Given the description of an element on the screen output the (x, y) to click on. 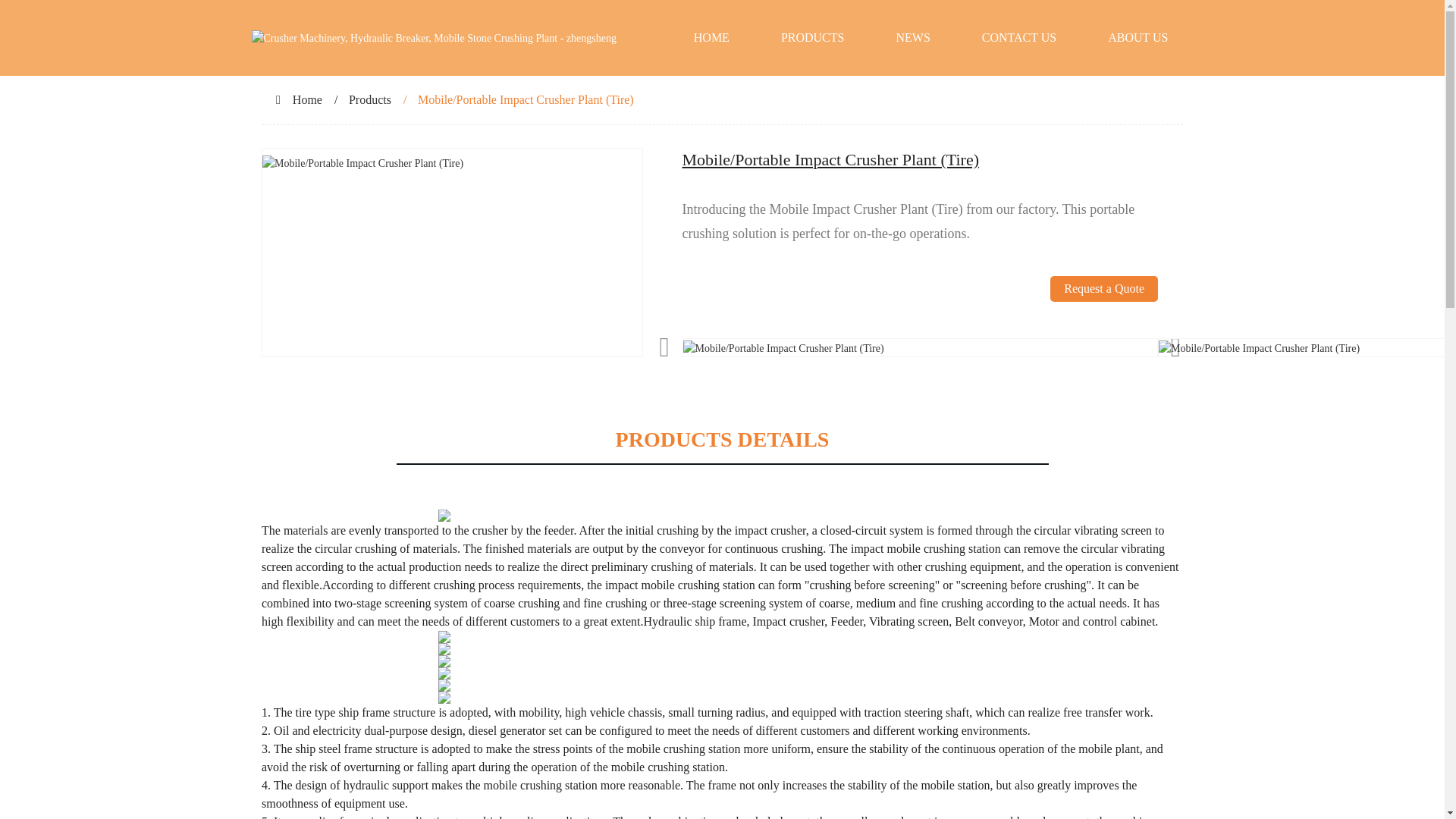
Request a Quote (1103, 307)
Products (370, 99)
CONTACT US (1018, 38)
PRODUCTS (812, 38)
Home (306, 99)
